Given the description of an element on the screen output the (x, y) to click on. 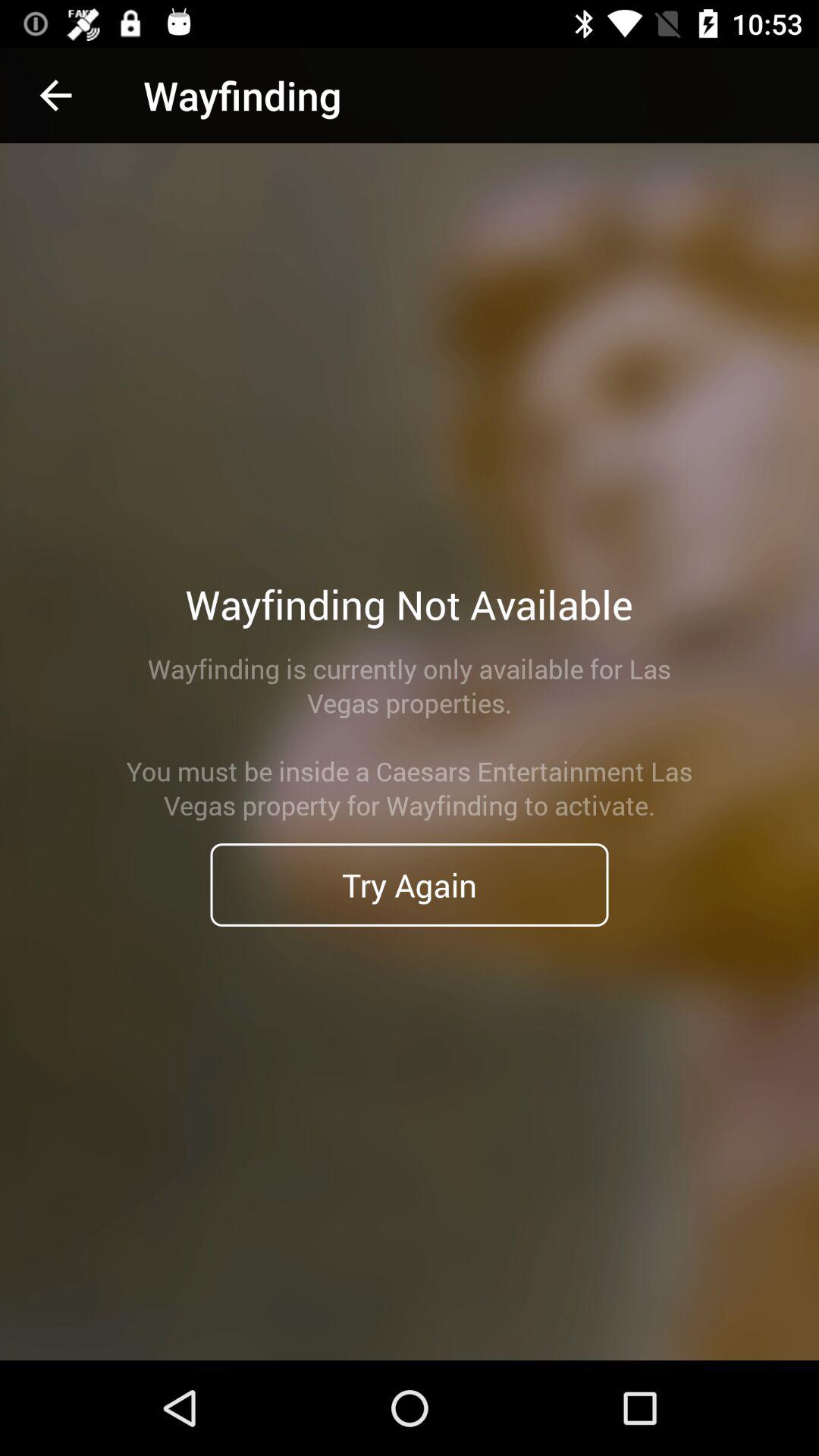
launch item next to the wayfinding icon (55, 95)
